Given the description of an element on the screen output the (x, y) to click on. 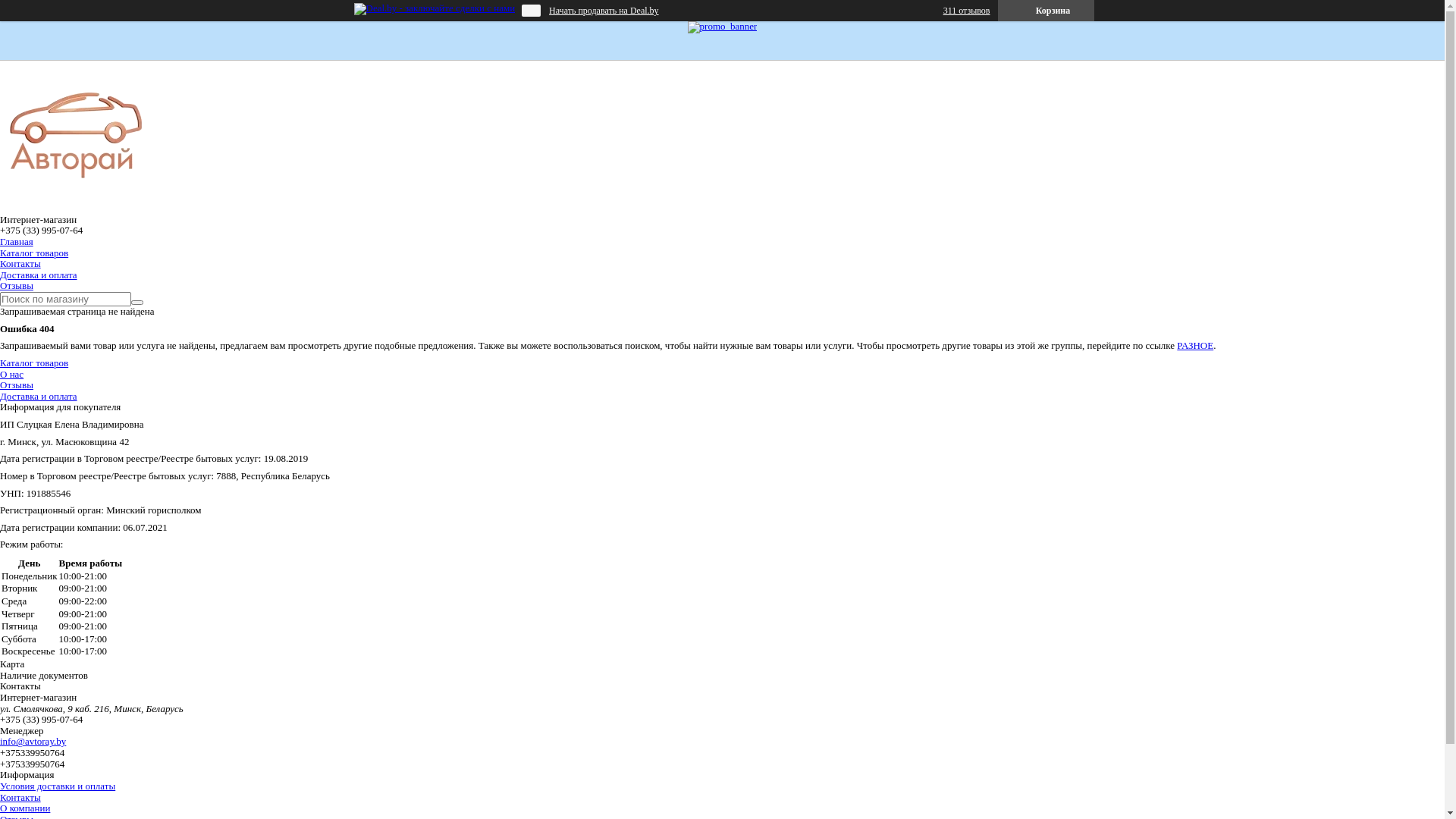
info@avtoray.by Element type: text (32, 740)
